Given the description of an element on the screen output the (x, y) to click on. 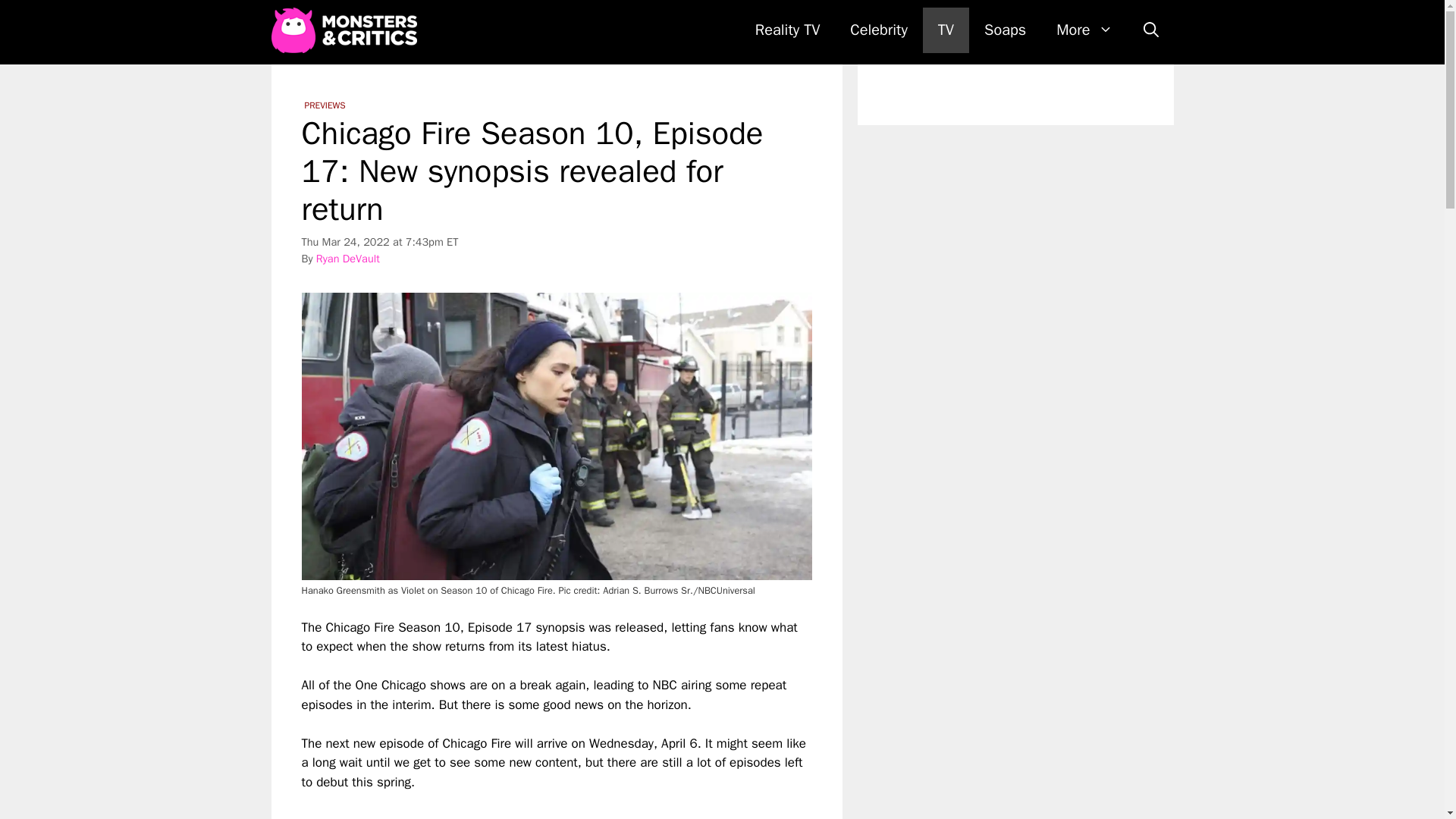
YouTube video player (513, 805)
More (1083, 30)
Celebrity (877, 30)
Monsters and Critics (343, 30)
Soaps (1005, 30)
View all posts by Ryan DeVault (347, 258)
Ryan DeVault (347, 258)
Monsters and Critics (347, 30)
TV (946, 30)
Reality TV (787, 30)
